Given the description of an element on the screen output the (x, y) to click on. 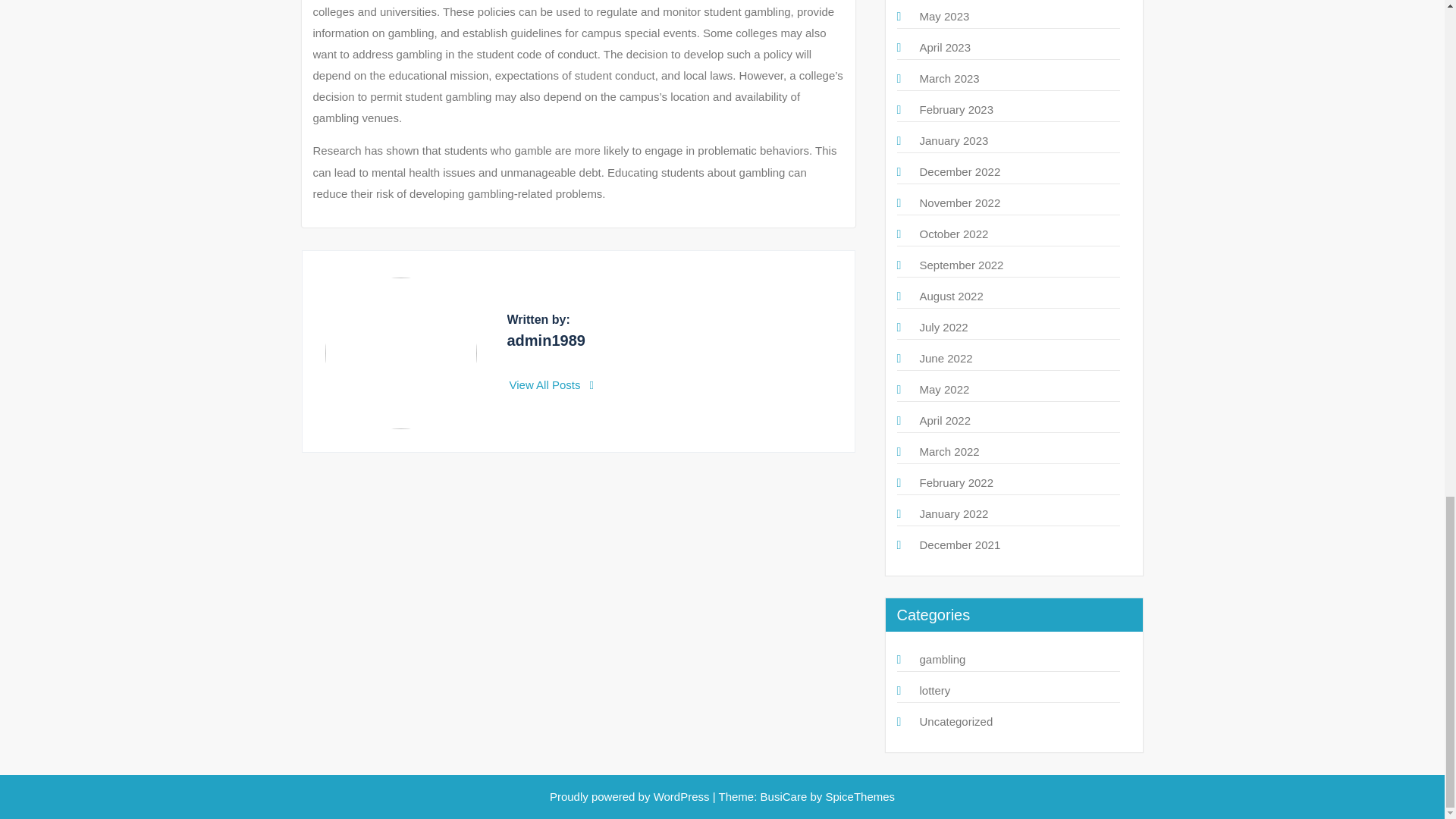
View All Posts (551, 384)
April 2023 (944, 47)
November 2022 (959, 202)
February 2023 (955, 109)
December 2022 (959, 171)
January 2023 (953, 140)
March 2023 (948, 78)
May 2023 (943, 15)
